Given the description of an element on the screen output the (x, y) to click on. 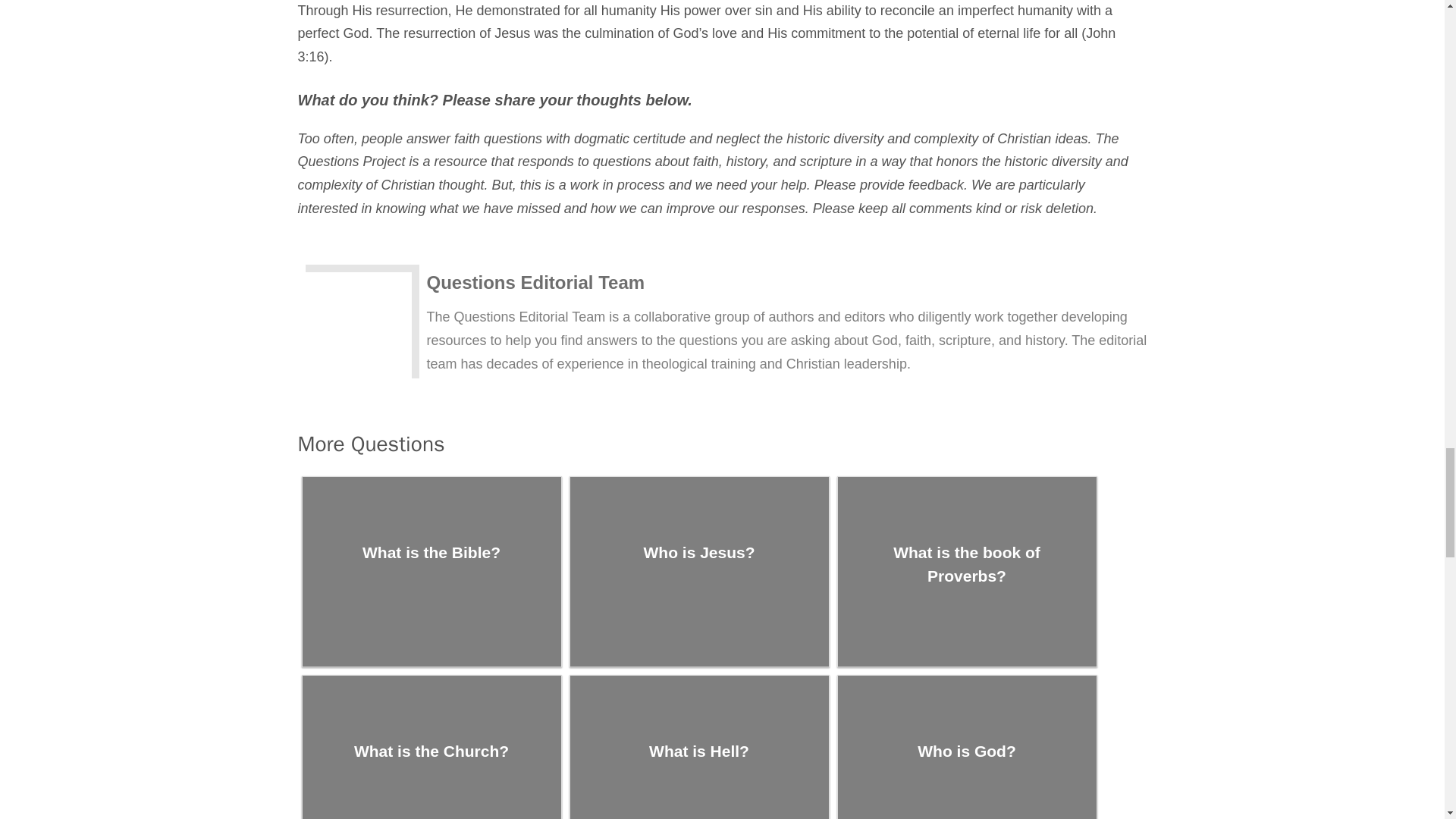
What is the Church? (430, 747)
Who is God? (966, 747)
Who is Jesus? (699, 571)
What is the book of Proverbs? (966, 571)
What is the Bible? (430, 571)
What is Hell? (699, 747)
